Given the description of an element on the screen output the (x, y) to click on. 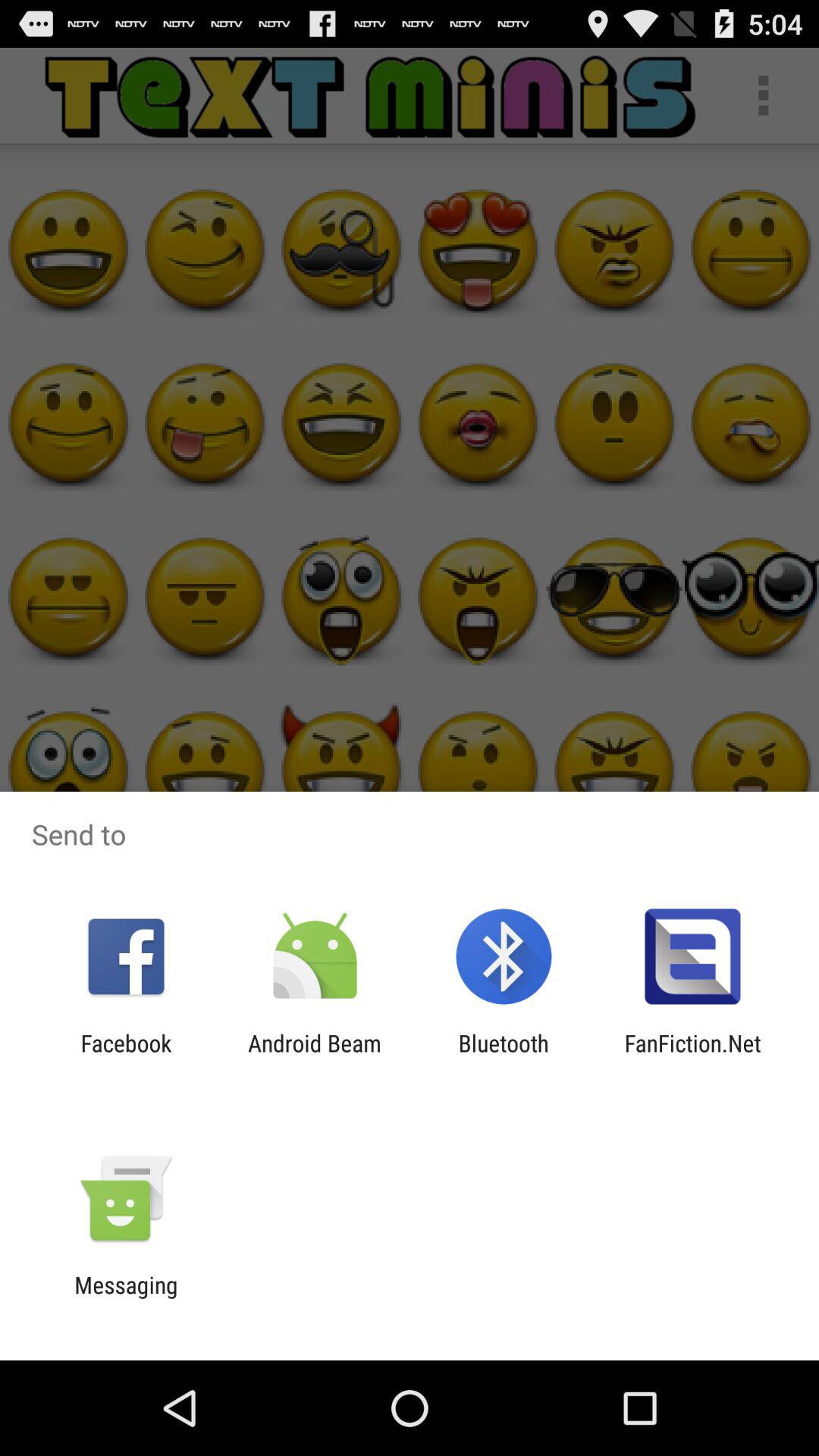
launch the bluetooth (503, 1056)
